Given the description of an element on the screen output the (x, y) to click on. 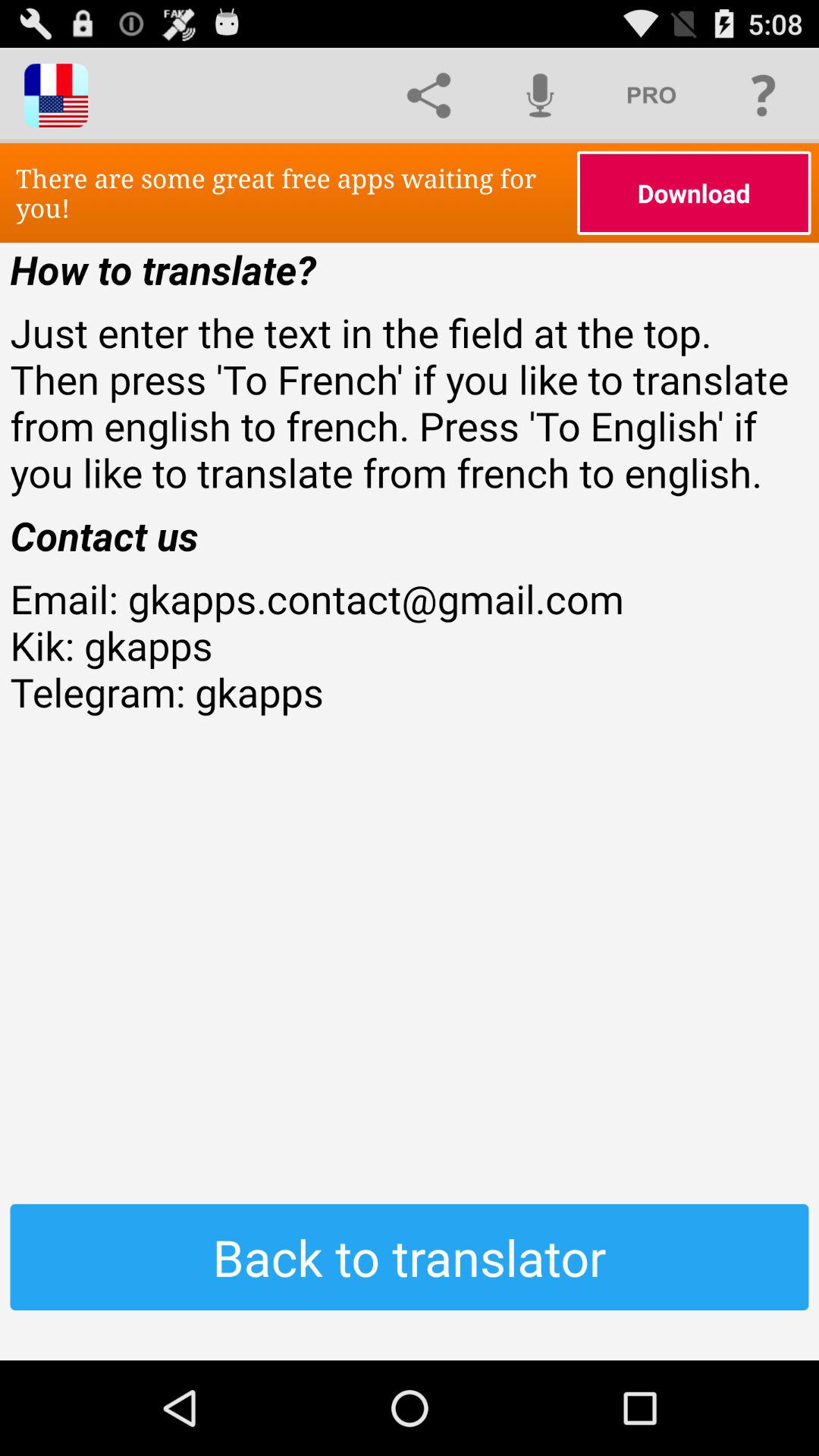
open the item above there are some icon (540, 95)
